Given the description of an element on the screen output the (x, y) to click on. 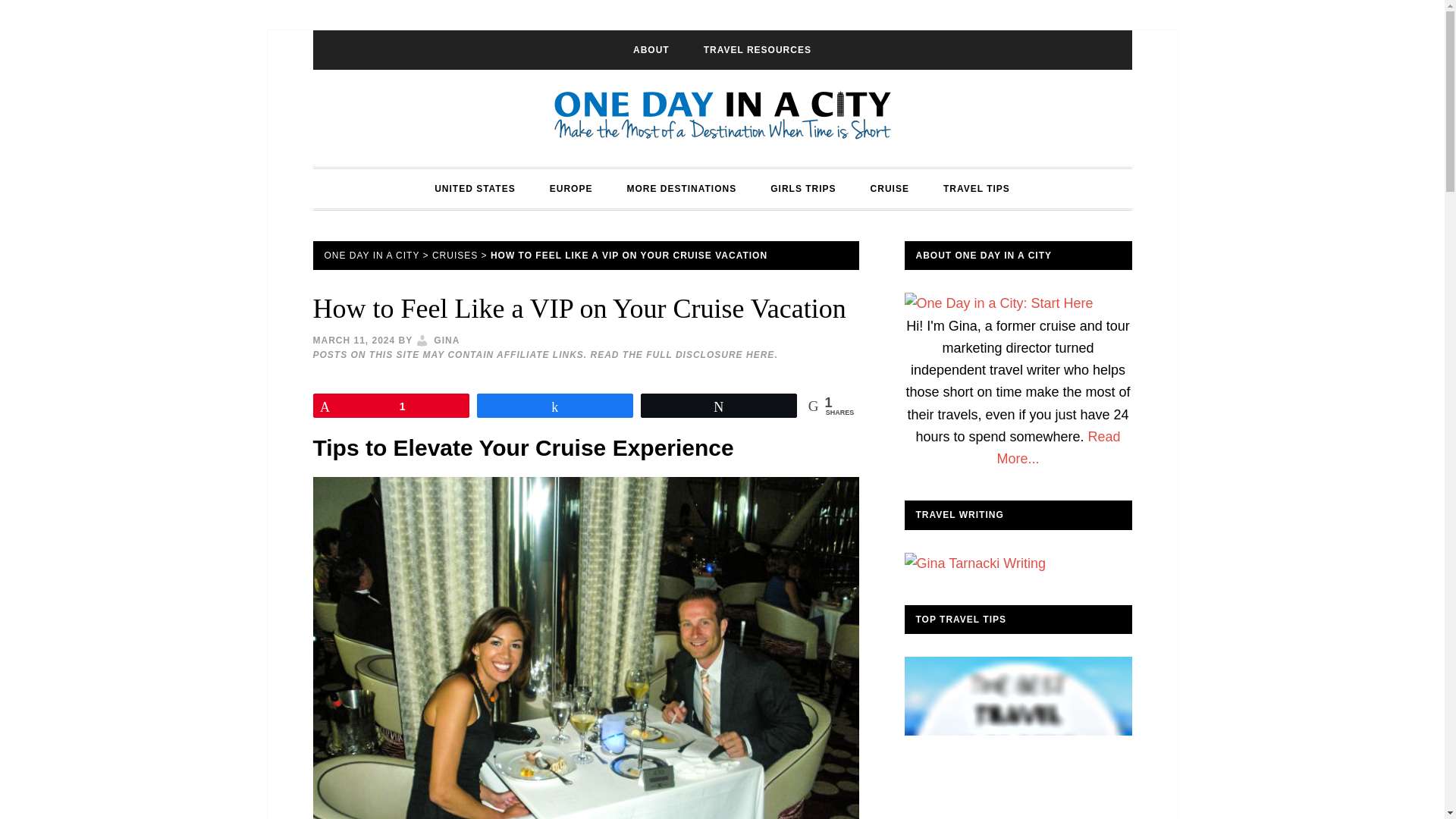
MORE DESTINATIONS (681, 188)
ABOUT (650, 49)
TRAVEL RESOURCES (757, 49)
ONE DAY IN A CITY (721, 118)
EUROPE (571, 188)
UNITED STATES (475, 188)
